Given the description of an element on the screen output the (x, y) to click on. 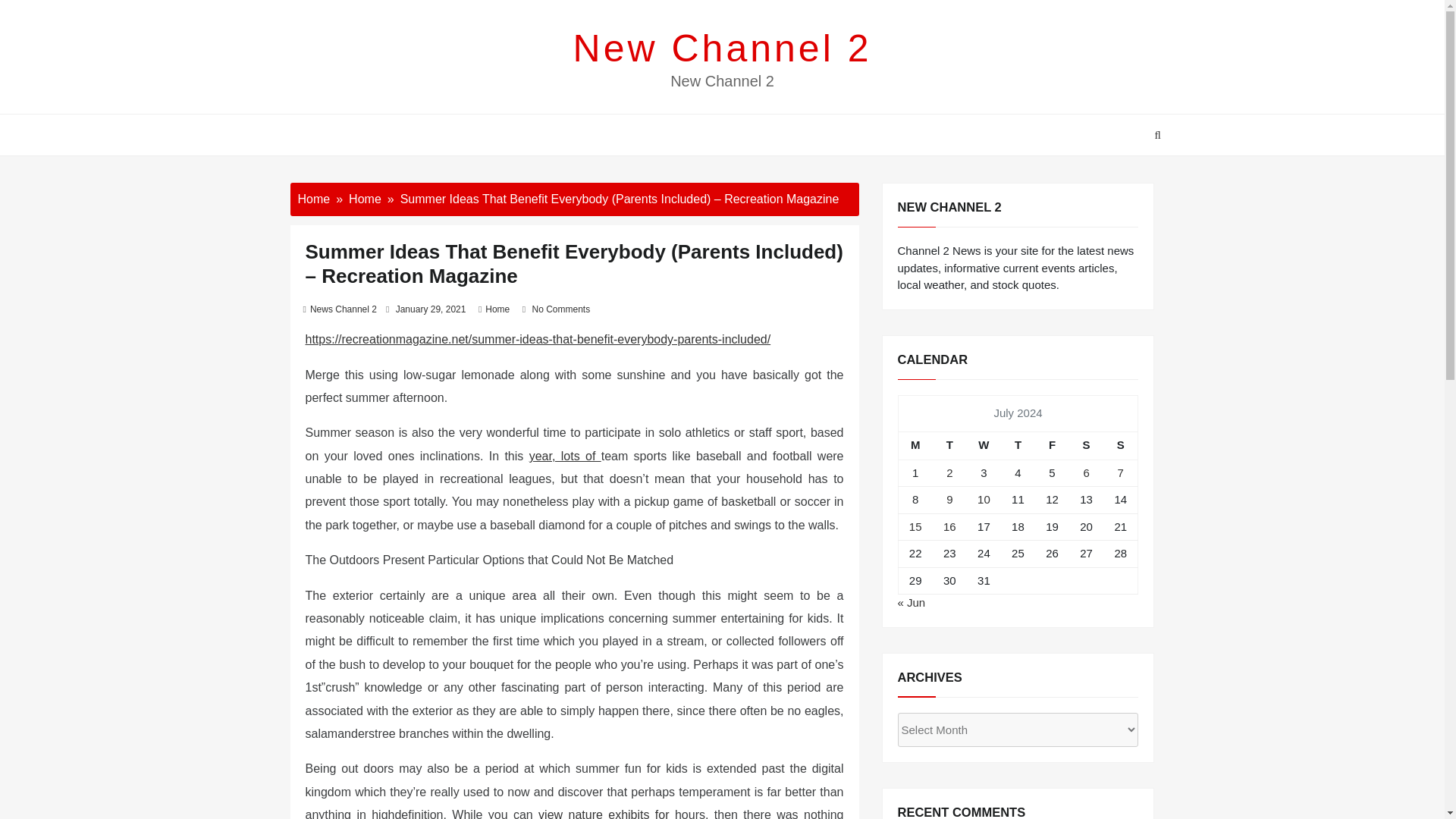
New Channel 2 (722, 48)
15 (914, 526)
2 (949, 472)
Home (496, 308)
7 (1121, 472)
Saturday (1085, 445)
16 (949, 526)
Wednesday (983, 445)
No Comments (560, 308)
view nature exhibits for (606, 813)
year, lots of (565, 455)
9 (949, 499)
Home (365, 198)
Thursday (1018, 445)
Home (313, 198)
